Given the description of an element on the screen output the (x, y) to click on. 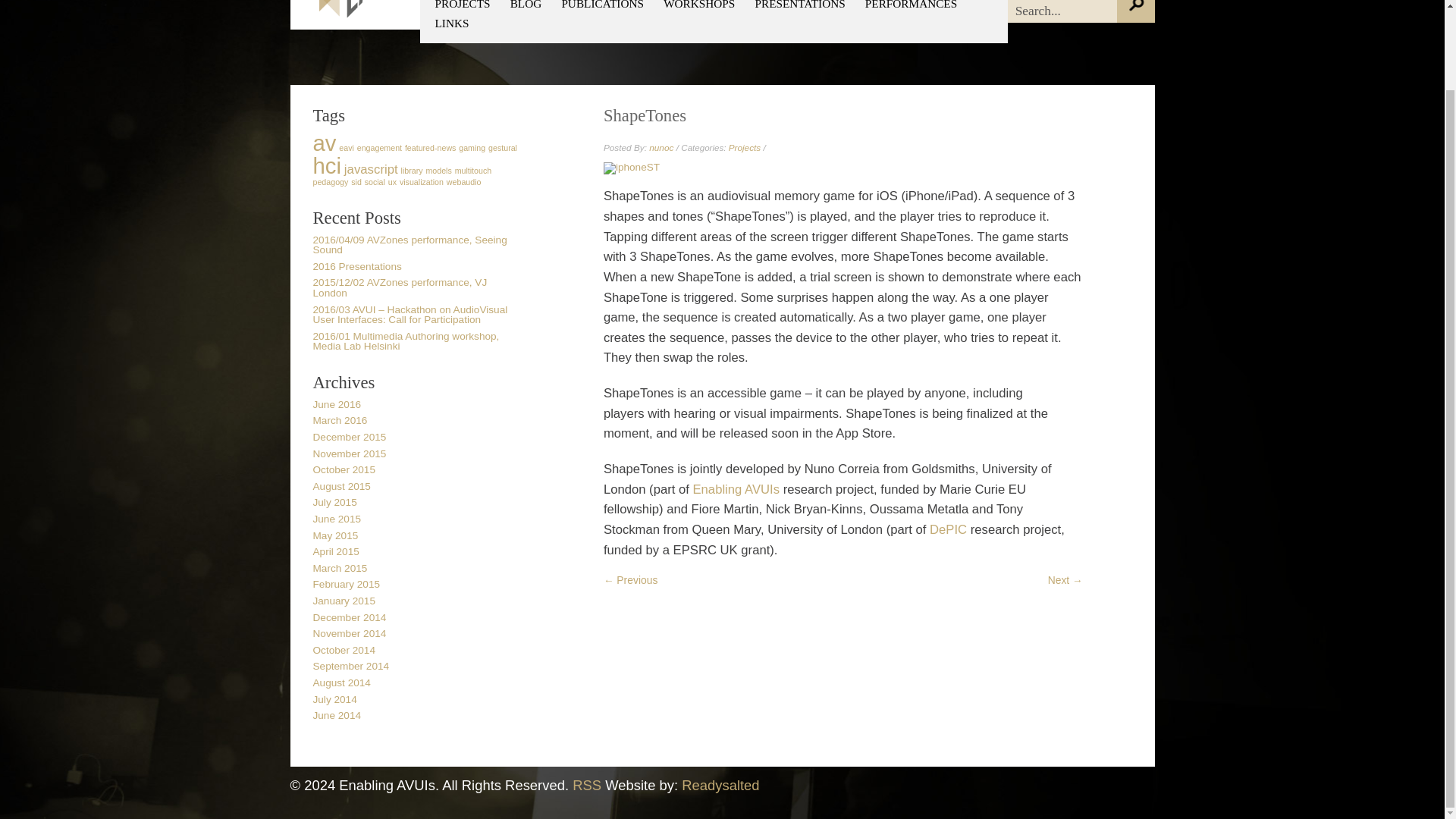
WORKSHOPS (699, 4)
PRESENTATIONS (799, 4)
October 2015 (343, 469)
engagement (378, 147)
1 topic (346, 147)
1 topic (378, 147)
1 topic (438, 170)
sid (355, 181)
2 topics (370, 169)
1 topic (412, 170)
